Given the description of an element on the screen output the (x, y) to click on. 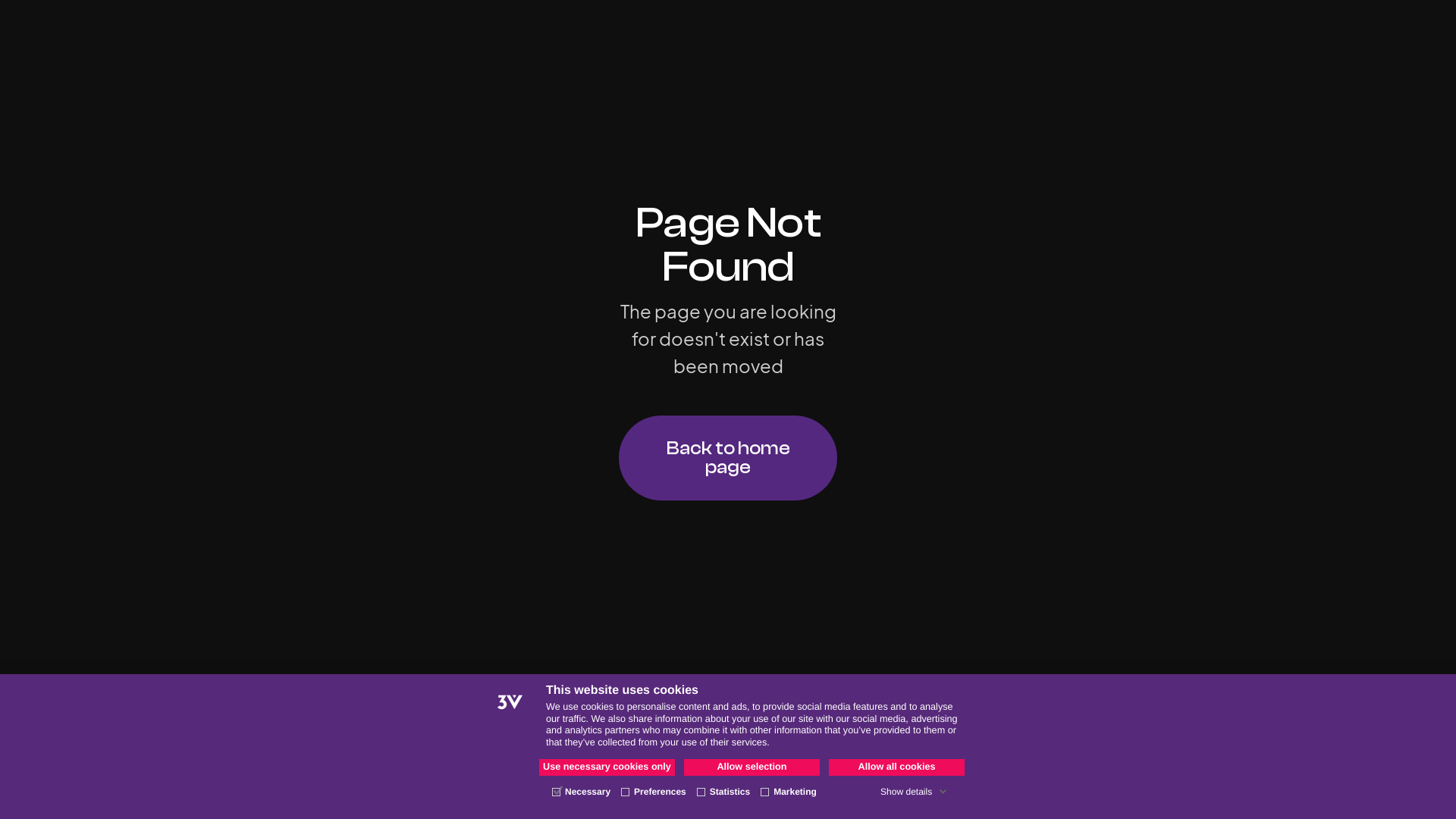
Back to home page Element type: text (727, 458)
Use necessary cookies only Element type: text (606, 767)
Show details Element type: text (913, 791)
Allow selection Element type: text (751, 767)
Allow all cookies Element type: text (896, 767)
